Given the description of an element on the screen output the (x, y) to click on. 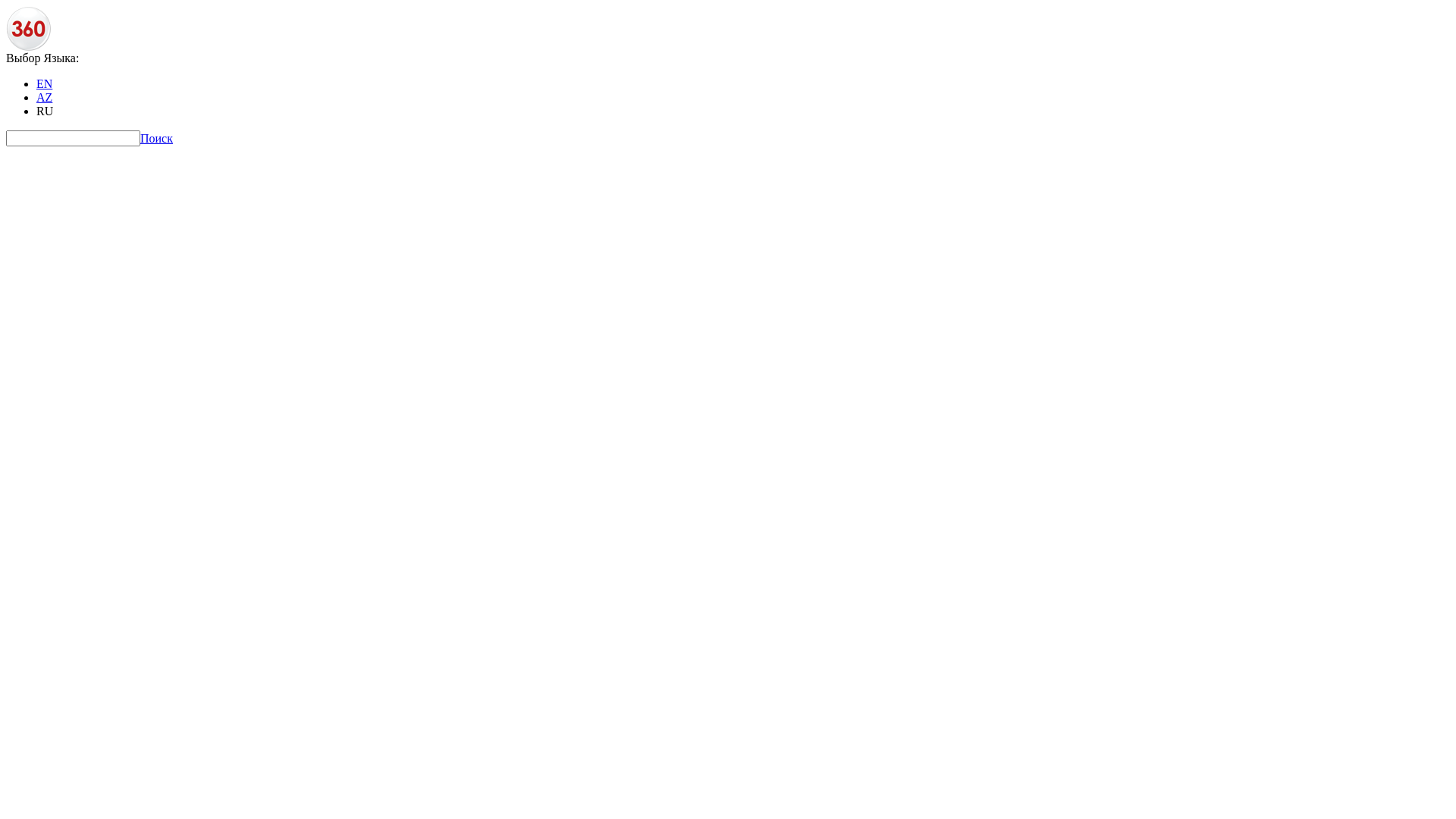
RU Element type: text (44, 110)
EN Element type: text (44, 83)
AZ Element type: text (44, 97)
